Given the description of an element on the screen output the (x, y) to click on. 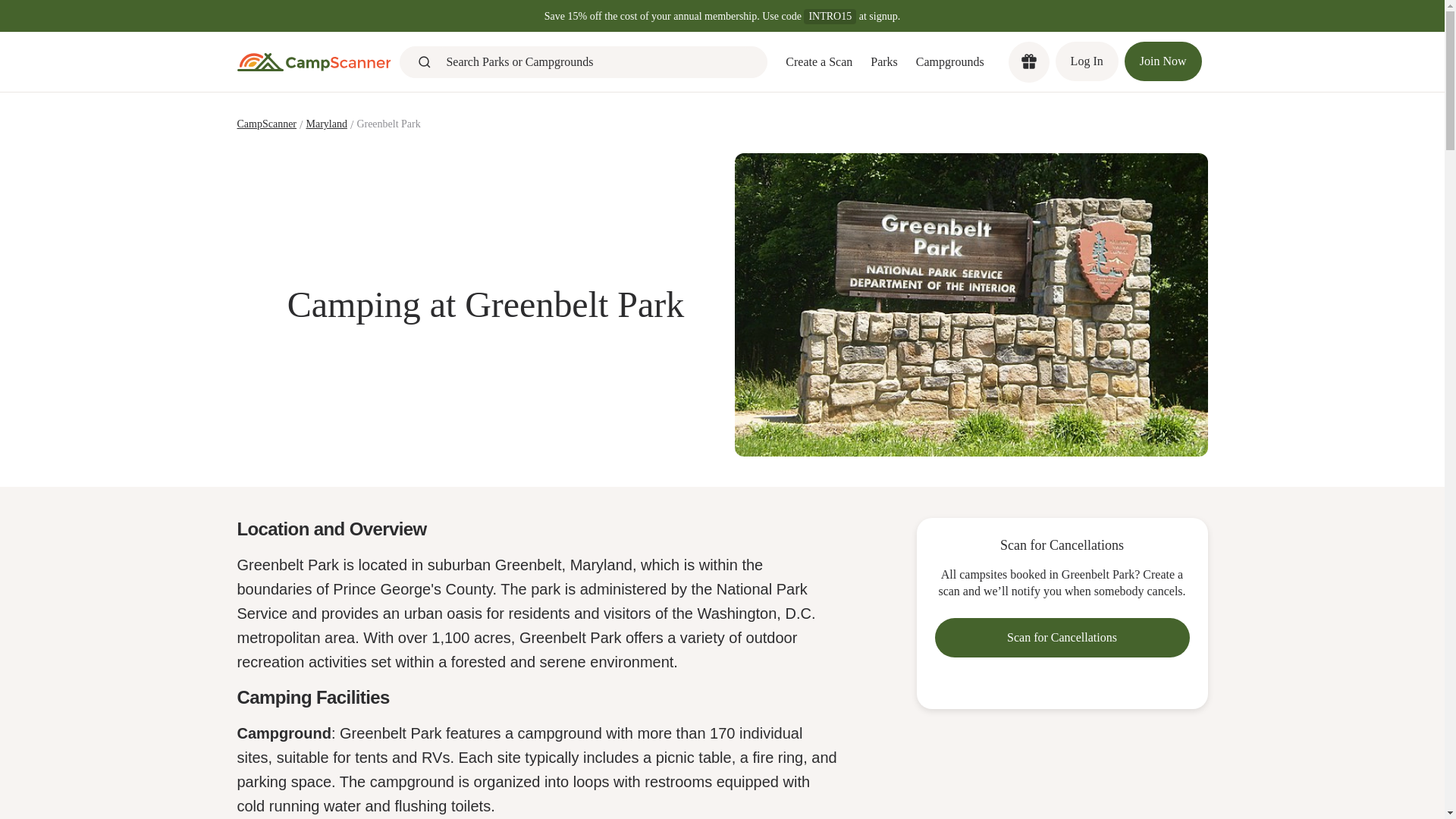
Create a Scan (818, 62)
Parks (884, 62)
CampScanner (266, 125)
Scan for Cancellations (1061, 637)
Greenbelt Park (388, 125)
Maryland (325, 125)
Campgrounds (949, 62)
